Given the description of an element on the screen output the (x, y) to click on. 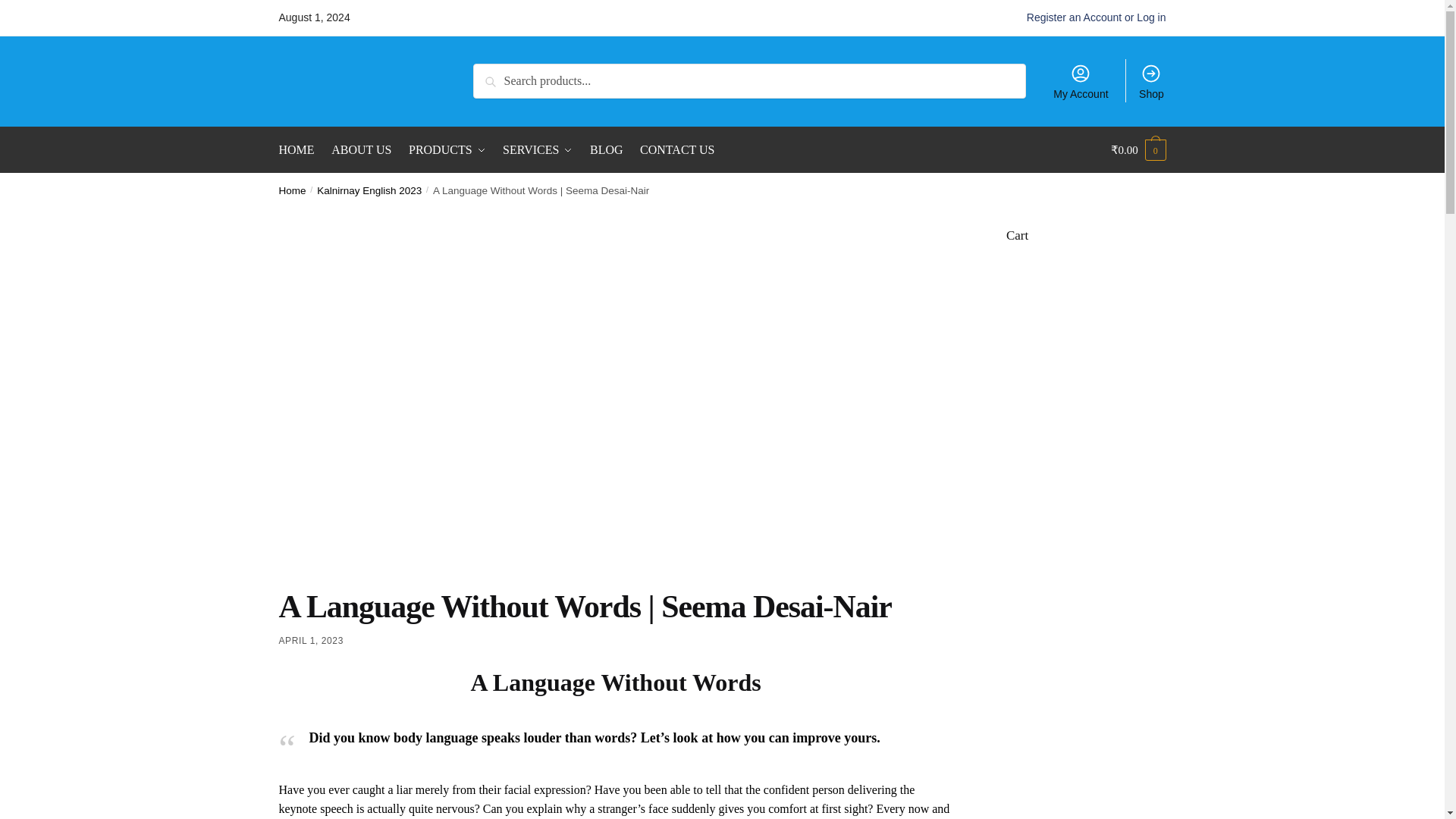
My Account (1080, 80)
ABOUT US (360, 149)
PRODUCTS (446, 149)
Shop (1151, 80)
HOME (300, 149)
View your shopping cart (1137, 149)
Register an Account or Log in (1096, 17)
Search (494, 74)
